Given the description of an element on the screen output the (x, y) to click on. 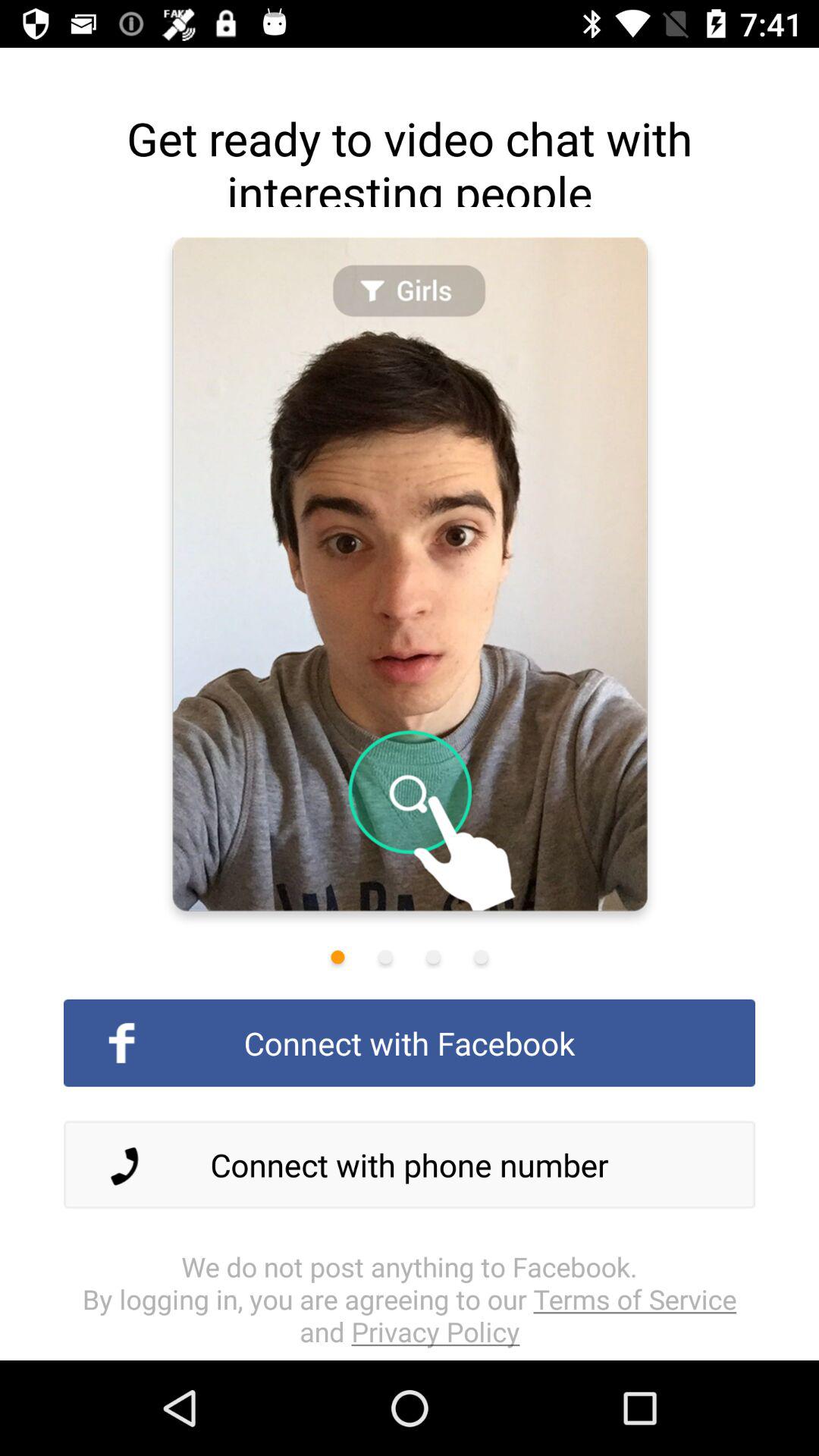
first slide (337, 957)
